Given the description of an element on the screen output the (x, y) to click on. 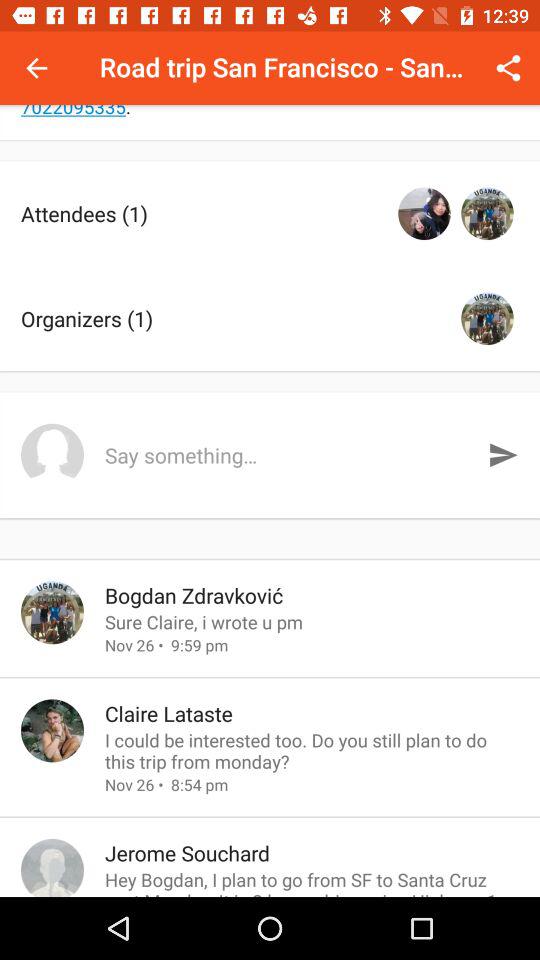
press icon below claire lataste icon (312, 750)
